Given the description of an element on the screen output the (x, y) to click on. 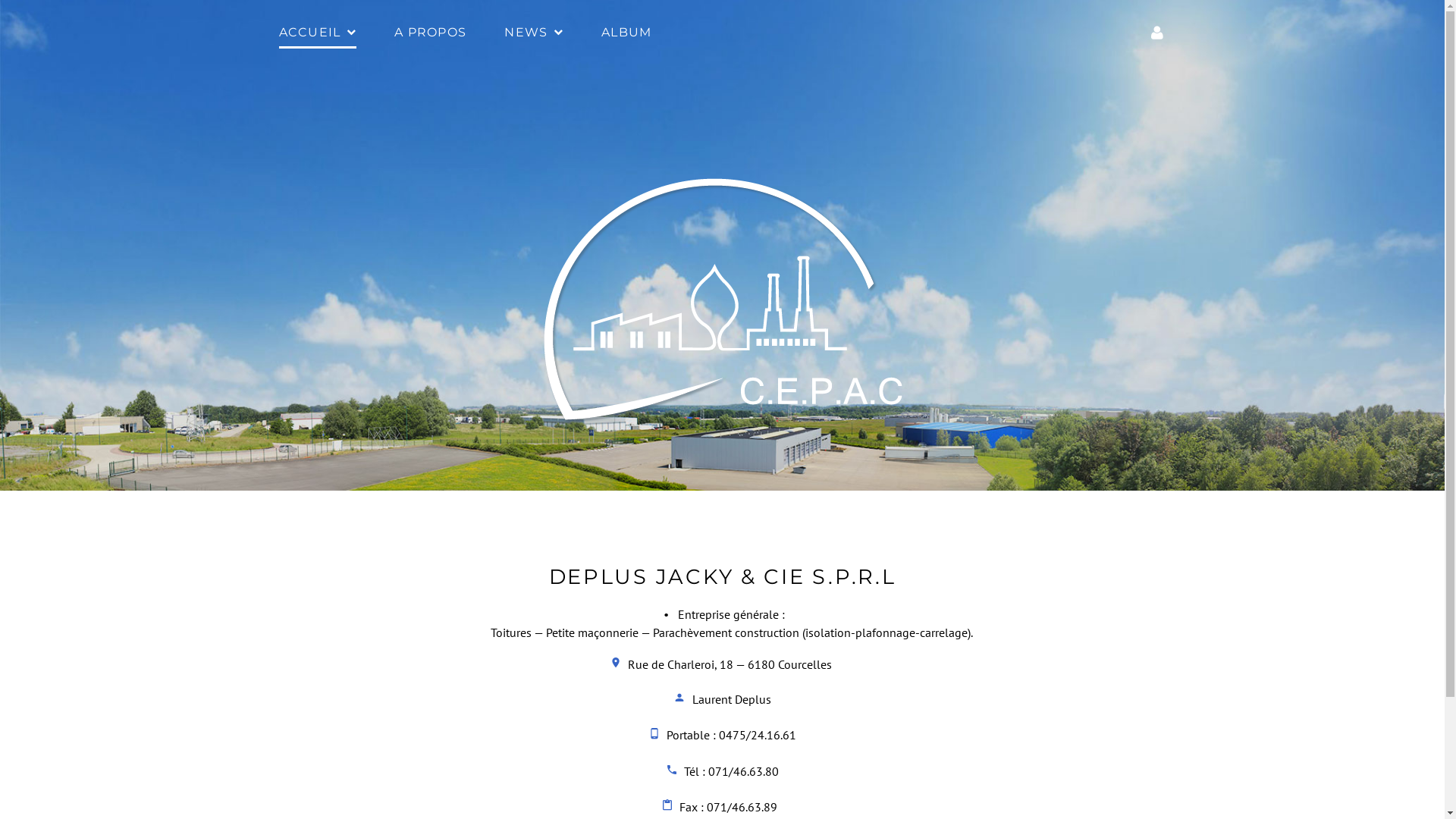
ACCUEIL Element type: text (318, 33)
NEWS Element type: text (533, 33)
LOGIN Element type: text (1157, 32)
ALBUM Element type: text (626, 33)
A PROPOS Element type: text (430, 33)
